Given the description of an element on the screen output the (x, y) to click on. 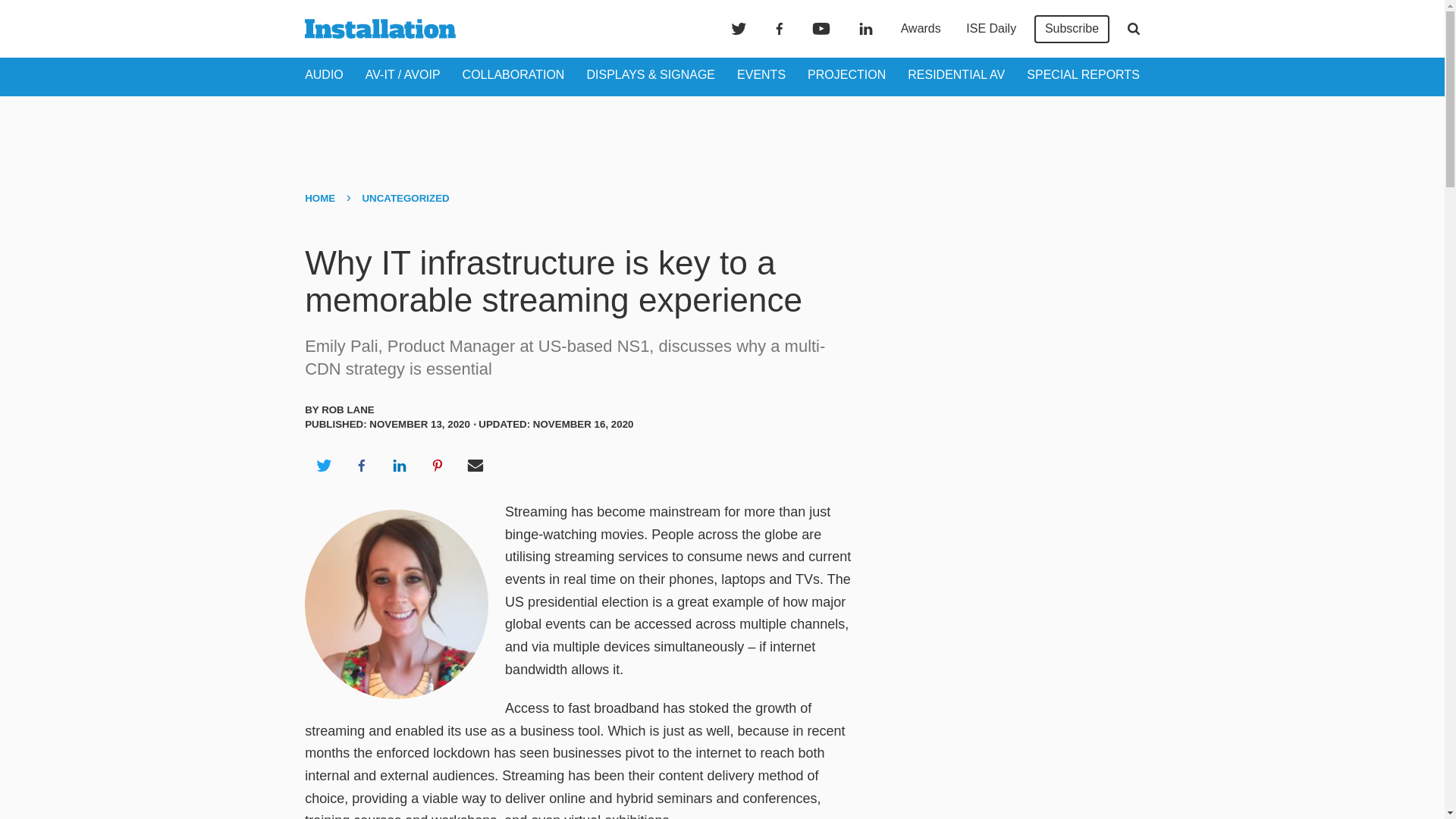
COLLABORATION (513, 74)
Subscribe (1071, 29)
ISE Daily (990, 29)
Rob Lane's Author Profile (347, 409)
Share on Facebook (361, 465)
Share on LinkedIn (399, 465)
Share via Email (476, 465)
Share on Twitter (323, 465)
Awards (921, 29)
AUDIO (323, 74)
